Given the description of an element on the screen output the (x, y) to click on. 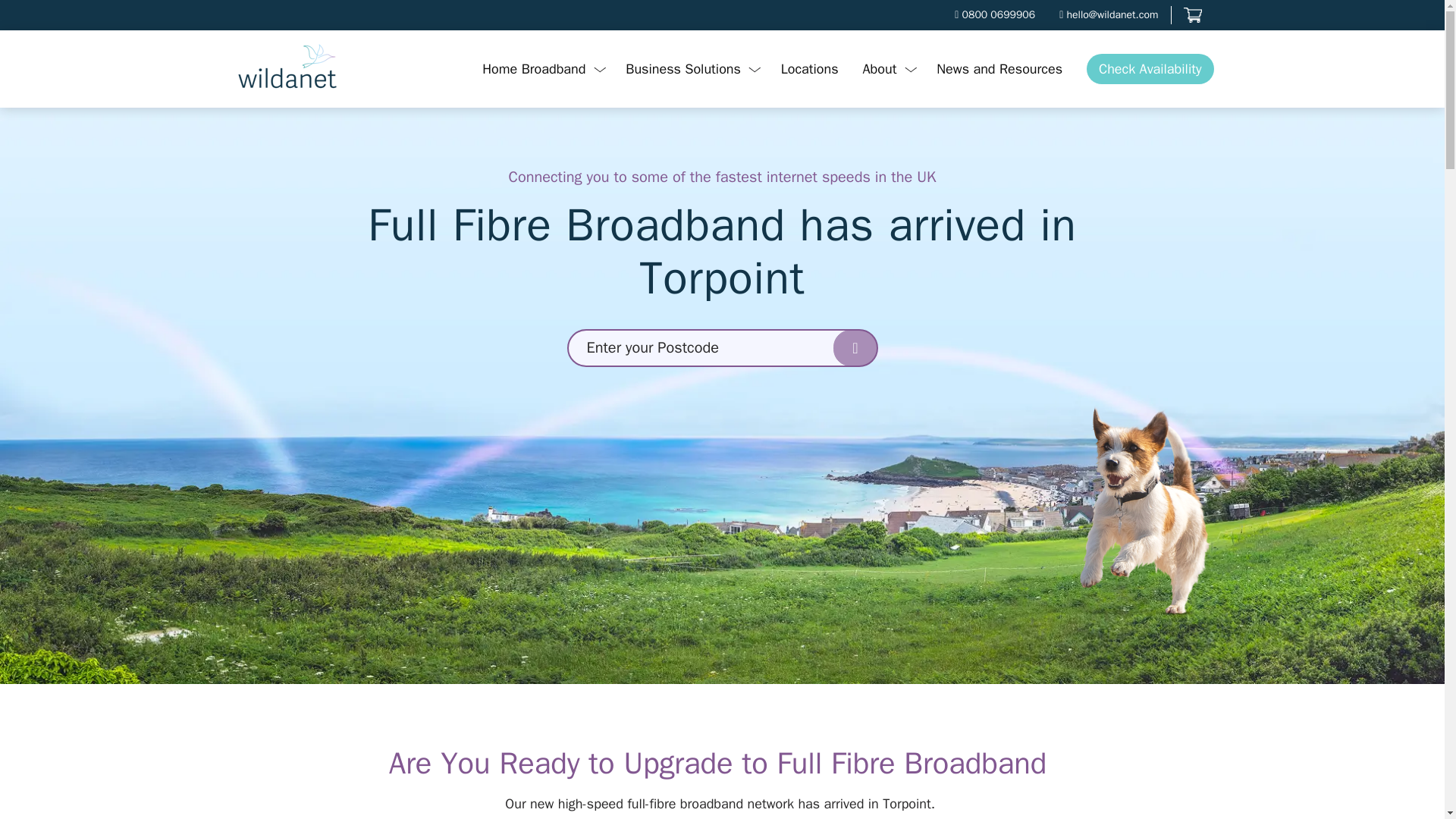
0800 0699906 (994, 14)
Locations (809, 69)
Home Broadband (541, 69)
About (887, 69)
Check Availability (1150, 69)
News and Resources (999, 69)
Business Solutions (690, 69)
